Given the description of an element on the screen output the (x, y) to click on. 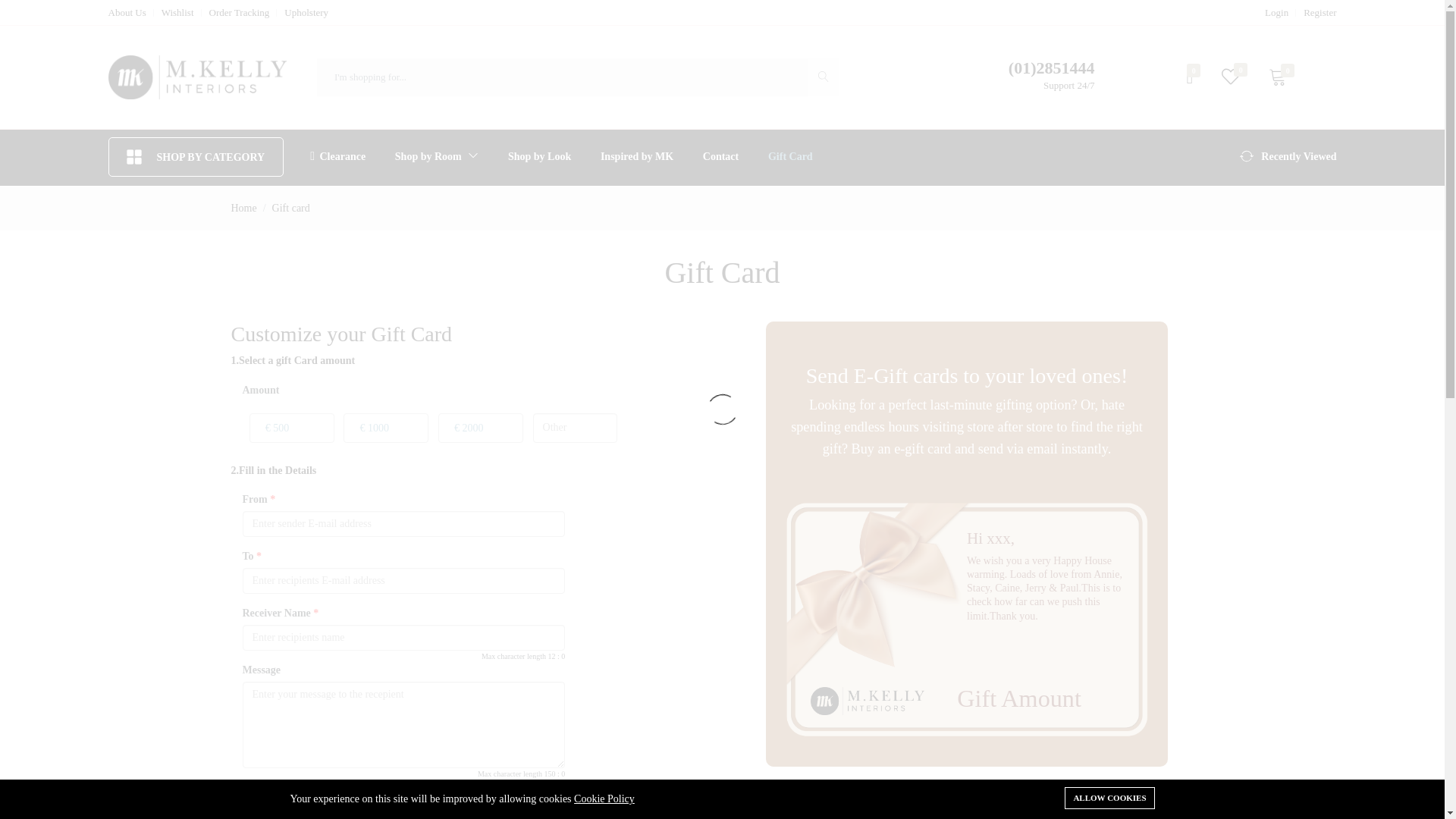
0 (1229, 76)
0 (1276, 76)
Register (1319, 12)
Order Tracking (239, 12)
Upholstery (306, 12)
Login (1276, 12)
Wishlist (177, 12)
0 (1188, 76)
About Us (126, 12)
